Given the description of an element on the screen output the (x, y) to click on. 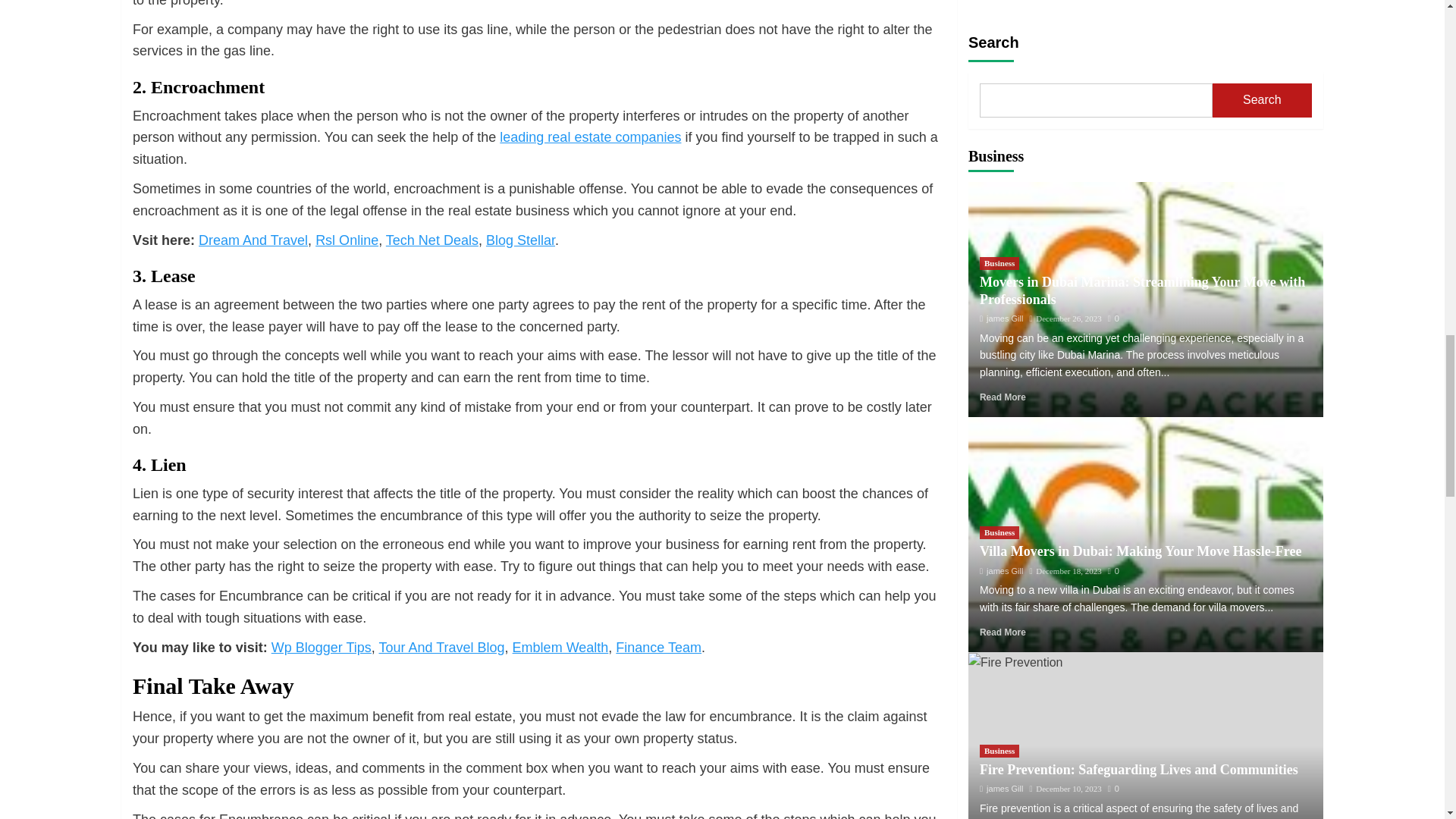
Emblem Wealth (560, 647)
Finance Team (658, 647)
Tour And Travel Blog (440, 647)
Rsl Online (346, 240)
Blog Stellar (520, 240)
Wp Blogger Tips (320, 647)
leading real estate companies (590, 136)
Dream And Travel (252, 240)
Tech Net Deals (432, 240)
